Given the description of an element on the screen output the (x, y) to click on. 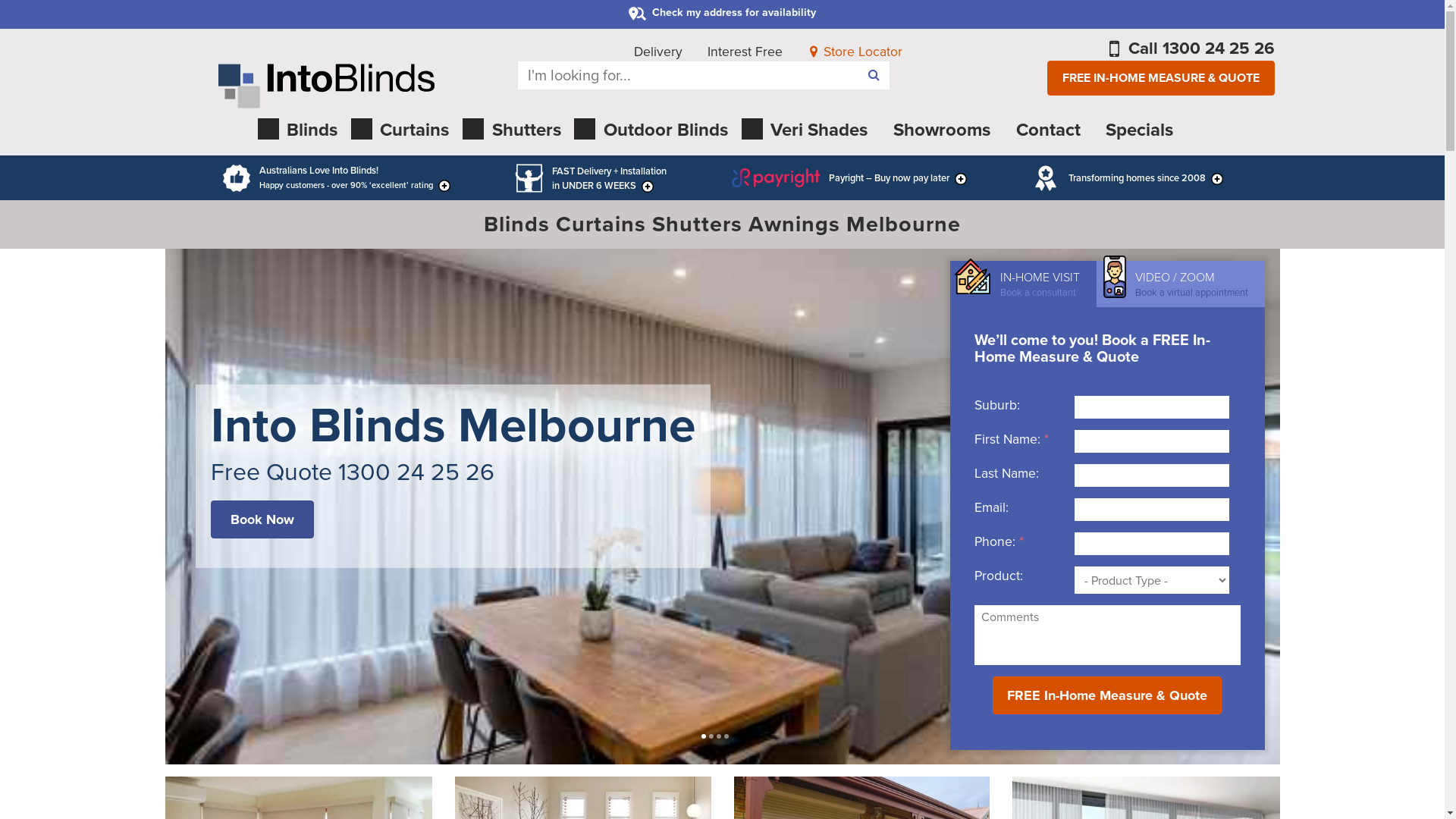
Transforming homes since 2008 Element type: text (1126, 178)
Veri Shades Element type: text (809, 131)
FREE IN-HOME MEASURE & QUOTE Element type: text (1160, 78)
Delivery Element type: text (658, 51)
Showrooms Element type: text (940, 131)
Outdoor Blinds Element type: text (655, 131)
Specials Element type: text (1138, 131)
  Check my address for availability Element type: text (721, 12)
Shutters Element type: text (516, 131)
Book Now Element type: text (261, 519)
FREE In-Home Measure & Quote Element type: text (1106, 695)
VIDEO / ZOOM
Book a virtual appointment Element type: text (1180, 283)
Store Locator Element type: text (854, 51)
  Call 1300 24 25 26 Element type: text (1191, 47)
Curtains Element type: text (404, 131)
Blinds Element type: text (302, 131)
Home Element type: hover (326, 85)
Contact Element type: text (1047, 131)
IN-HOME VISIT
Book a consultant Element type: text (1022, 283)
Interest Free Element type: text (744, 51)
FAST Delivery + Installation
in UNDER 6 WEEKS Element type: text (589, 178)
